Given the description of an element on the screen output the (x, y) to click on. 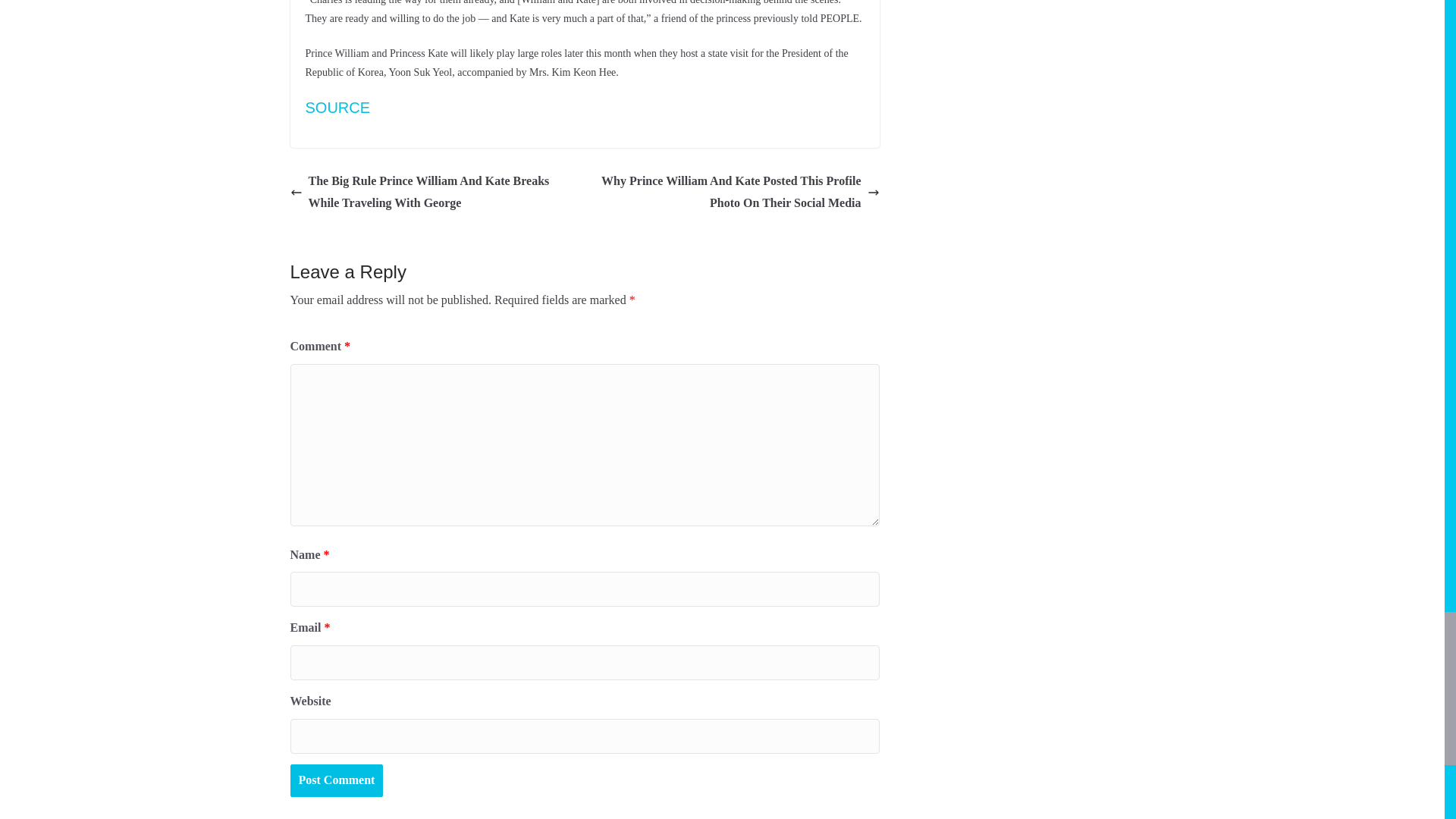
SOURCE (336, 107)
Post Comment (335, 780)
Post Comment (335, 780)
